Given the description of an element on the screen output the (x, y) to click on. 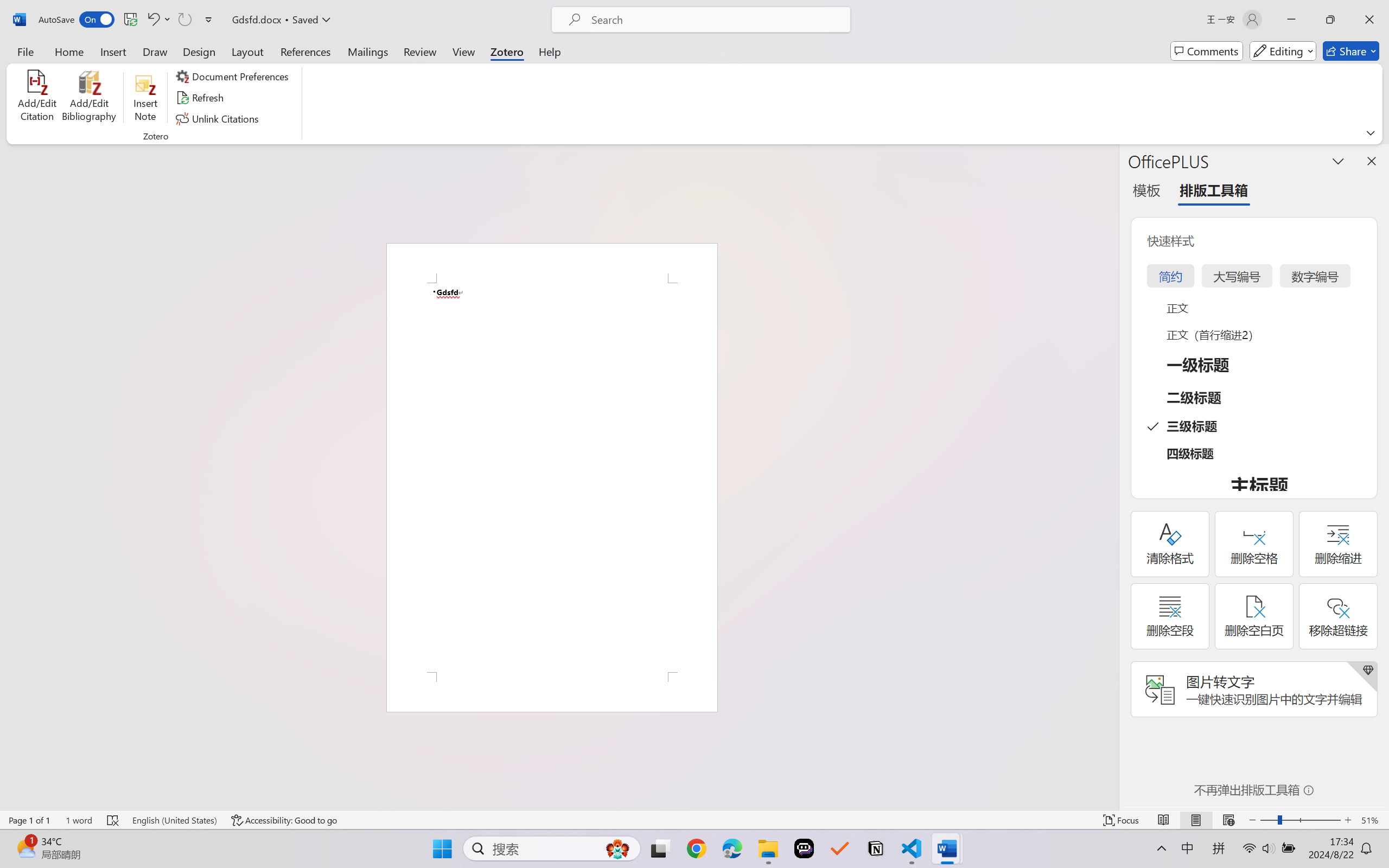
Add/Edit Bibliography (88, 97)
